Given the description of an element on the screen output the (x, y) to click on. 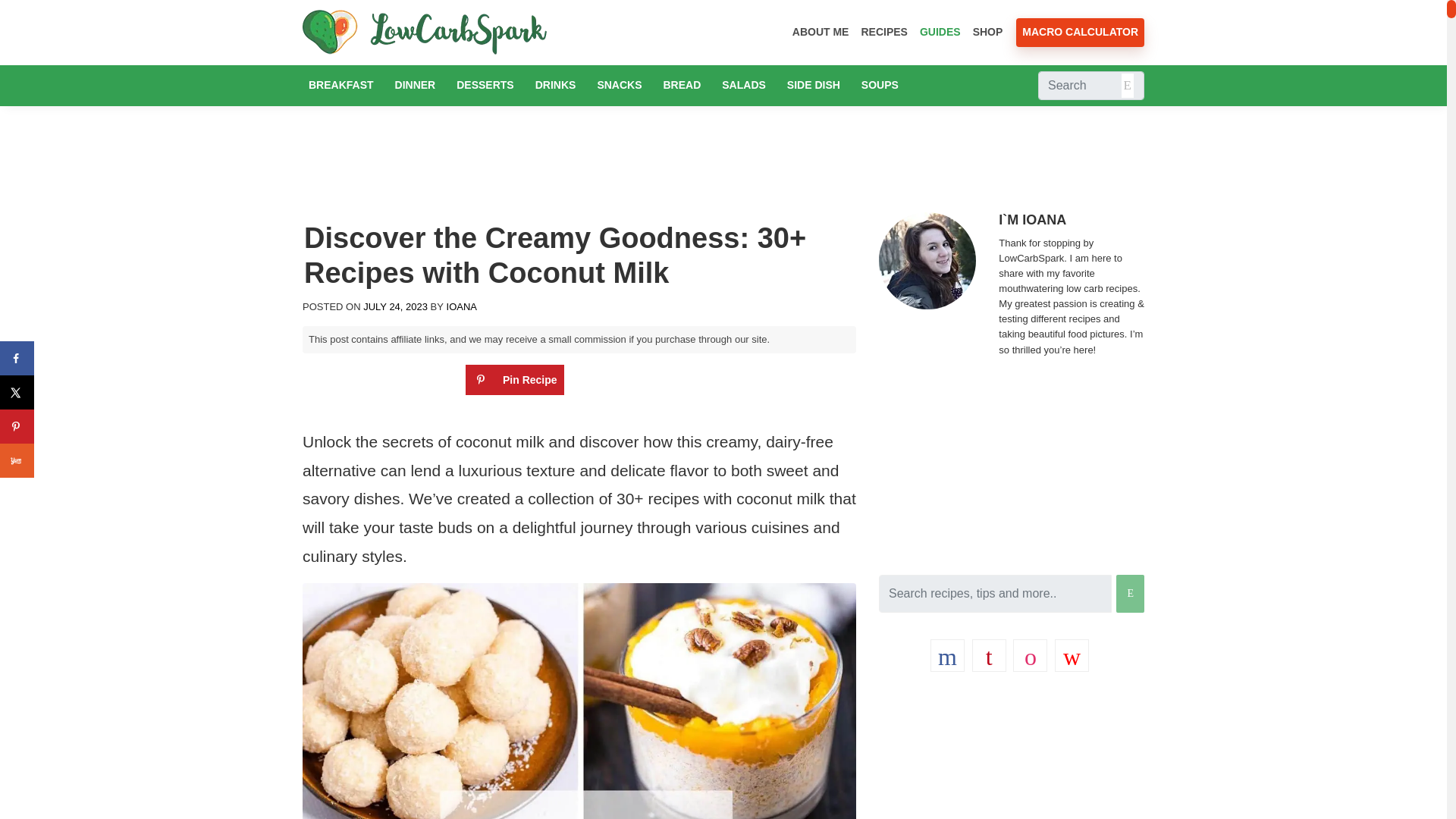
IOANA (460, 306)
DRINKS (555, 85)
JULY 24, 2023 (395, 306)
SNACKS (619, 85)
RECIPES (883, 32)
DINNER (415, 85)
Shop (987, 32)
BREAD (681, 85)
DESSERTS (484, 85)
SHOP (987, 32)
